Given the description of an element on the screen output the (x, y) to click on. 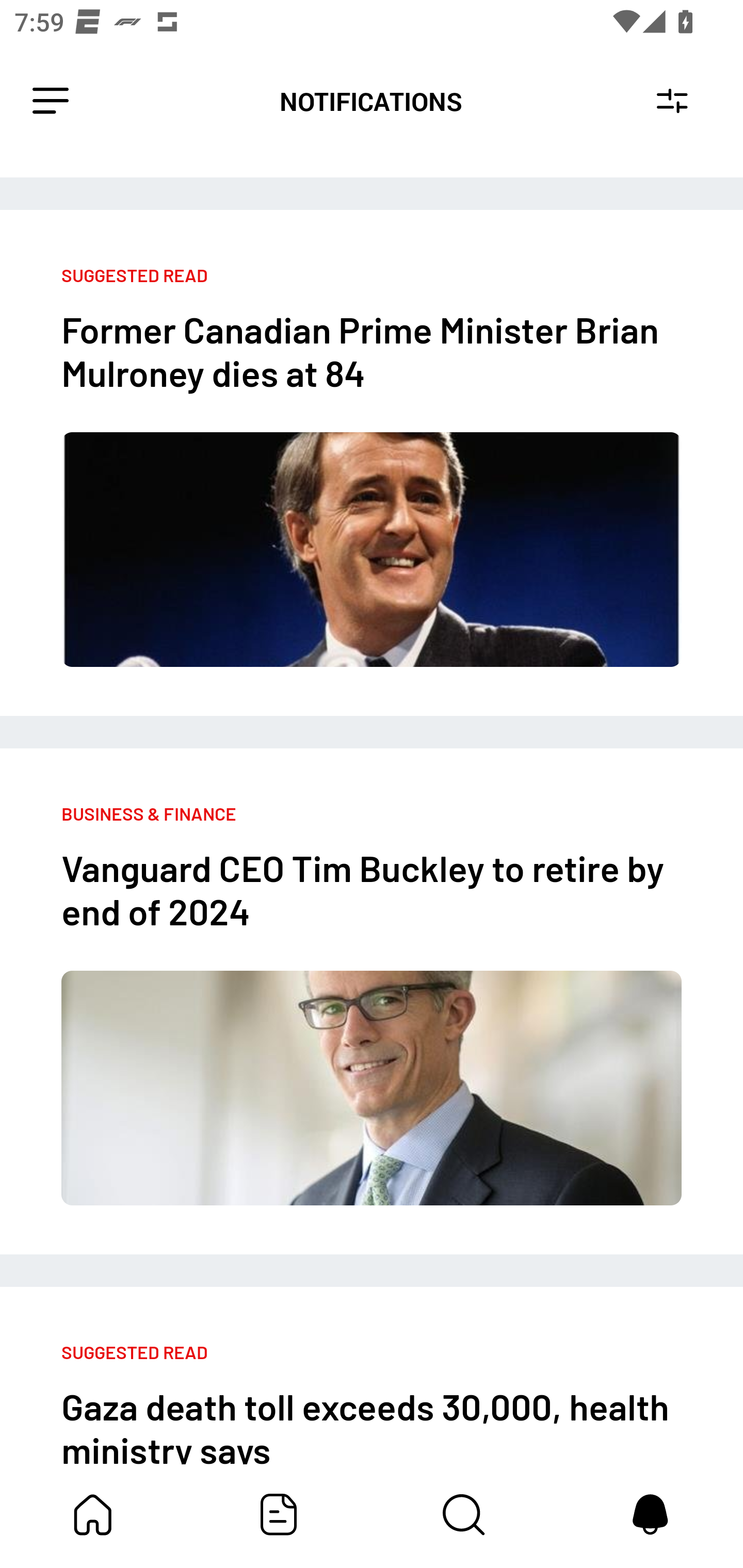
Leading Icon (50, 101)
Notification Settings (672, 101)
My Bundle (92, 1514)
Featured (278, 1514)
Content Store (464, 1514)
